Given the description of an element on the screen output the (x, y) to click on. 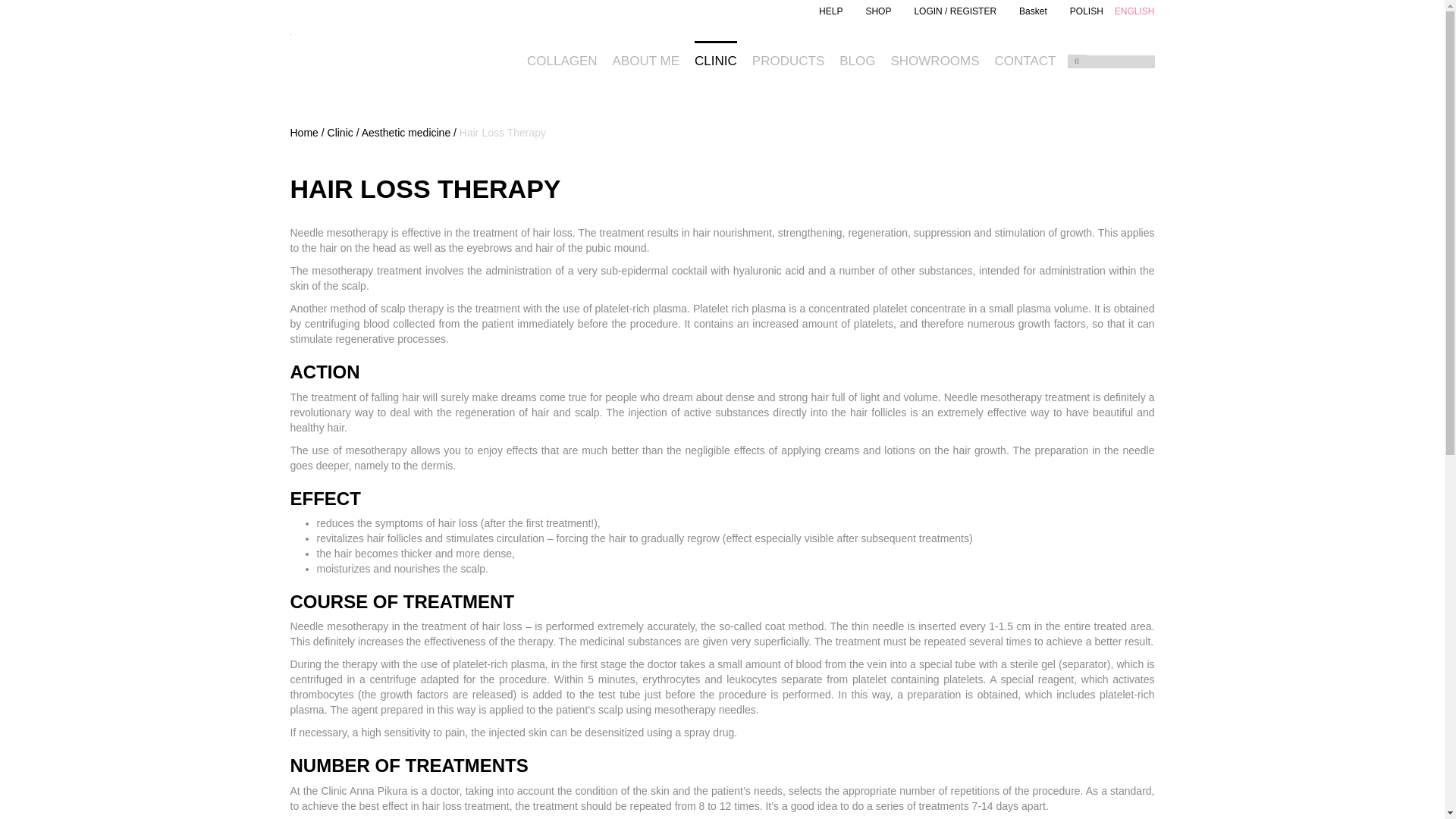
ABOUT ME (645, 54)
HELP (830, 11)
ENGLISH (1134, 10)
POLISH (1086, 10)
Checkout (1032, 10)
Basket (1032, 10)
SHOP (877, 11)
COLLAGEN (561, 54)
CLINIC (715, 54)
